Given the description of an element on the screen output the (x, y) to click on. 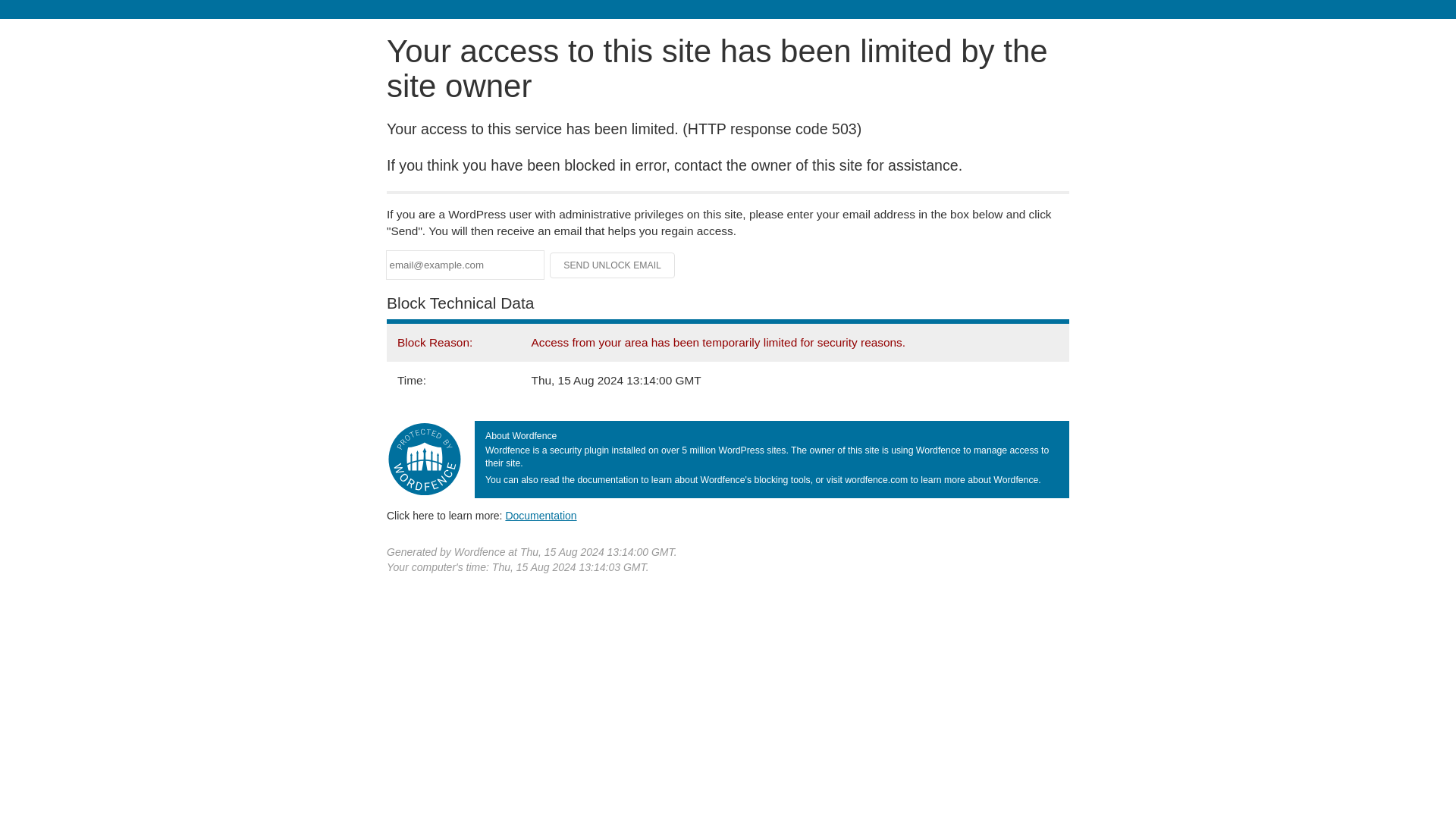
Send Unlock Email (612, 265)
Send Unlock Email (612, 265)
Documentation (540, 515)
